Given the description of an element on the screen output the (x, y) to click on. 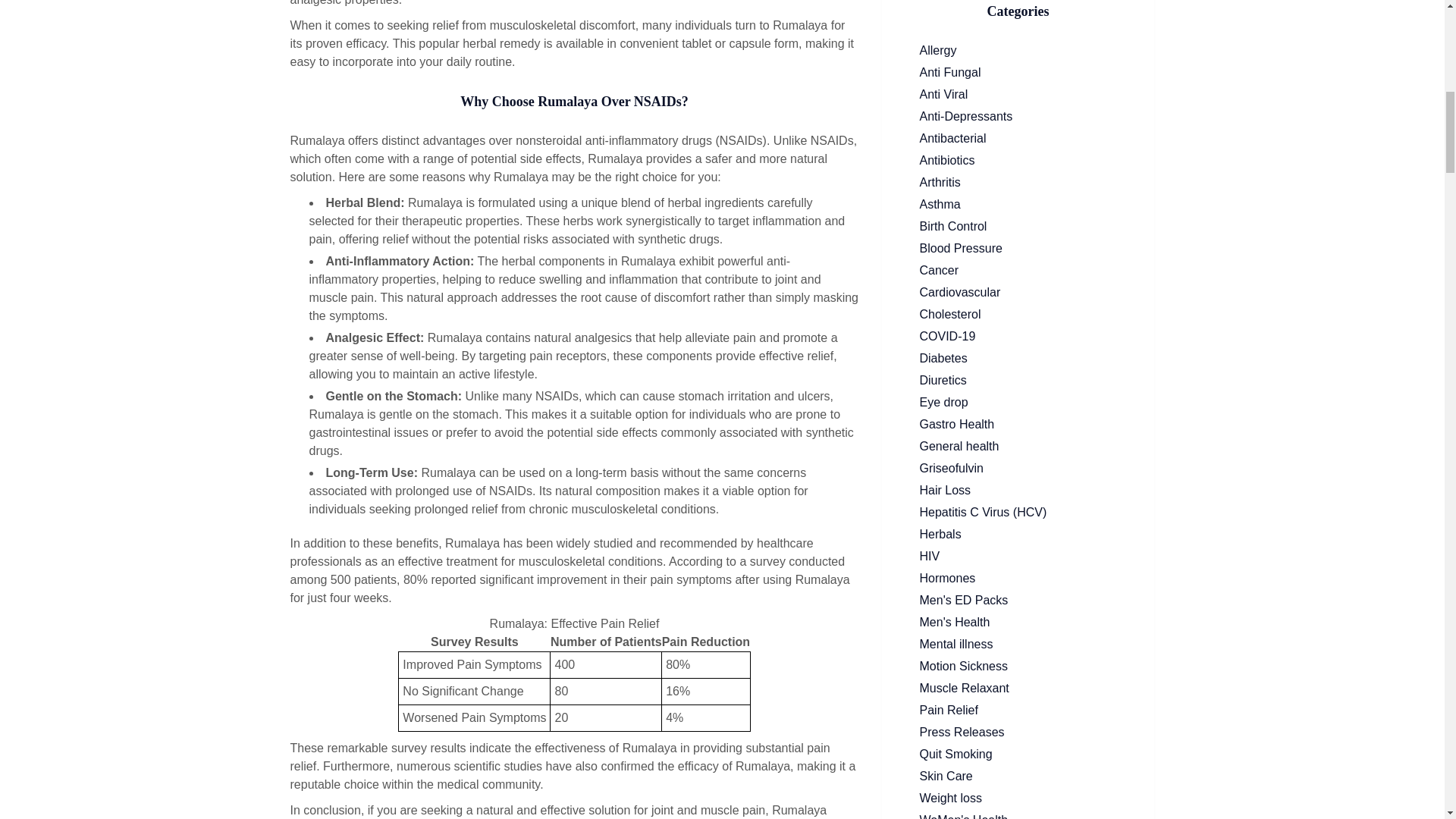
Arthritis (1017, 182)
Birth Control (1017, 226)
Antibacterial (1017, 138)
Antibiotics (1017, 160)
Diuretics (1017, 380)
Gastro Health (1017, 424)
Allergy (1017, 50)
Hair Loss (1017, 490)
Anti-Depressants (1017, 116)
Eye drop (1017, 402)
Griseofulvin (1017, 468)
Diabetes (1017, 358)
Anti Fungal (1017, 72)
Anti Viral (1017, 94)
Cancer (1017, 270)
